Given the description of an element on the screen output the (x, y) to click on. 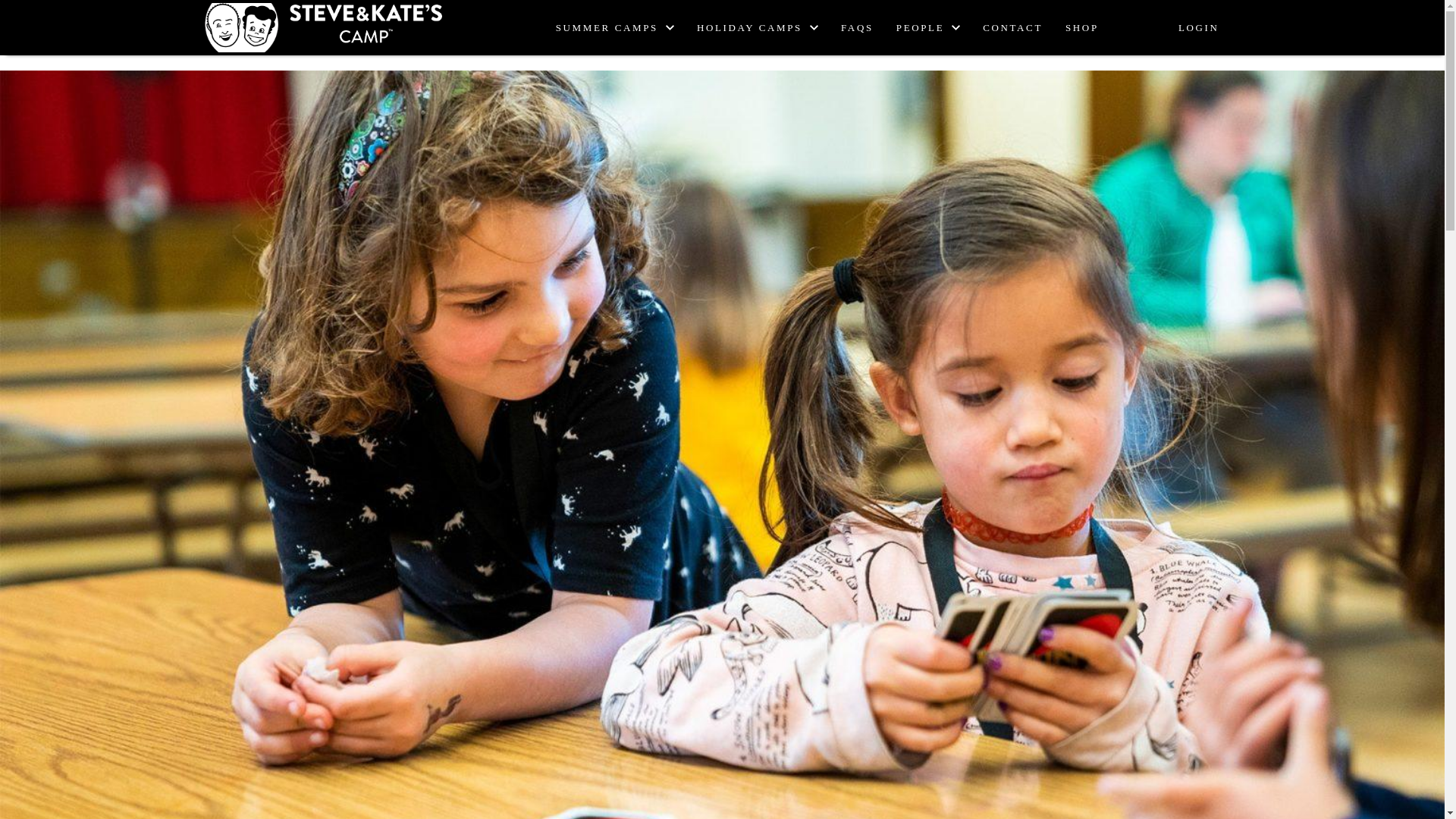
HOLIDAY CAMPS (757, 27)
PEOPLE (927, 27)
FAQS (857, 28)
LOGIN (1198, 28)
CONTACT (1012, 28)
SHOP (1082, 28)
SUMMER CAMPS (615, 27)
